Given the description of an element on the screen output the (x, y) to click on. 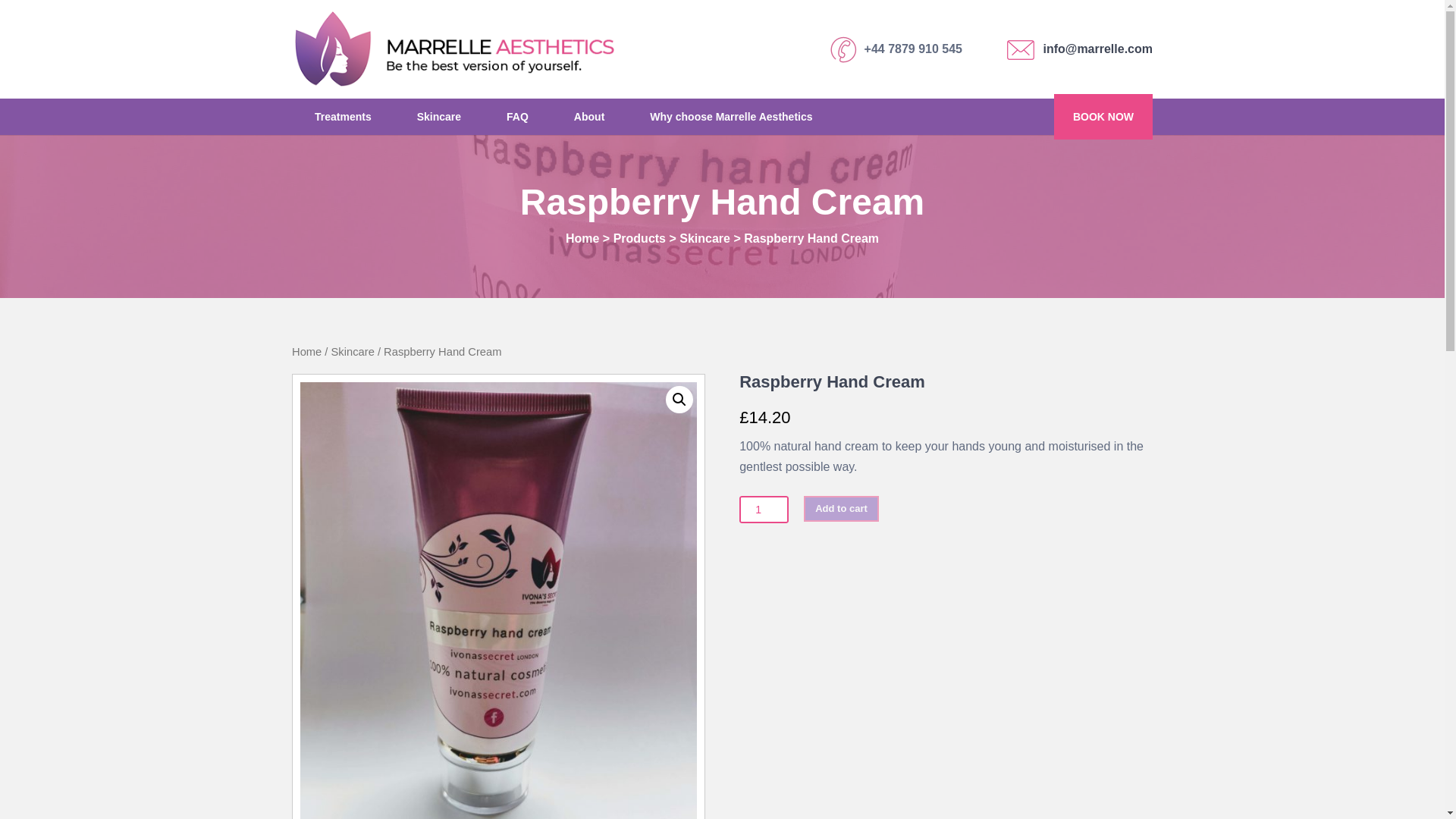
About (589, 116)
Skincare (704, 237)
Home (306, 351)
Home (582, 237)
Products (638, 237)
Skincare (438, 116)
Go to Products. (638, 237)
Go to Marrelle Aesthetics. (582, 237)
Treatments (343, 116)
1 (764, 509)
Go to the Skincare Category archives. (704, 237)
Why choose Marrelle Aesthetics (730, 116)
Add to cart (841, 508)
BOOK NOW (1103, 116)
FAQ (517, 116)
